Given the description of an element on the screen output the (x, y) to click on. 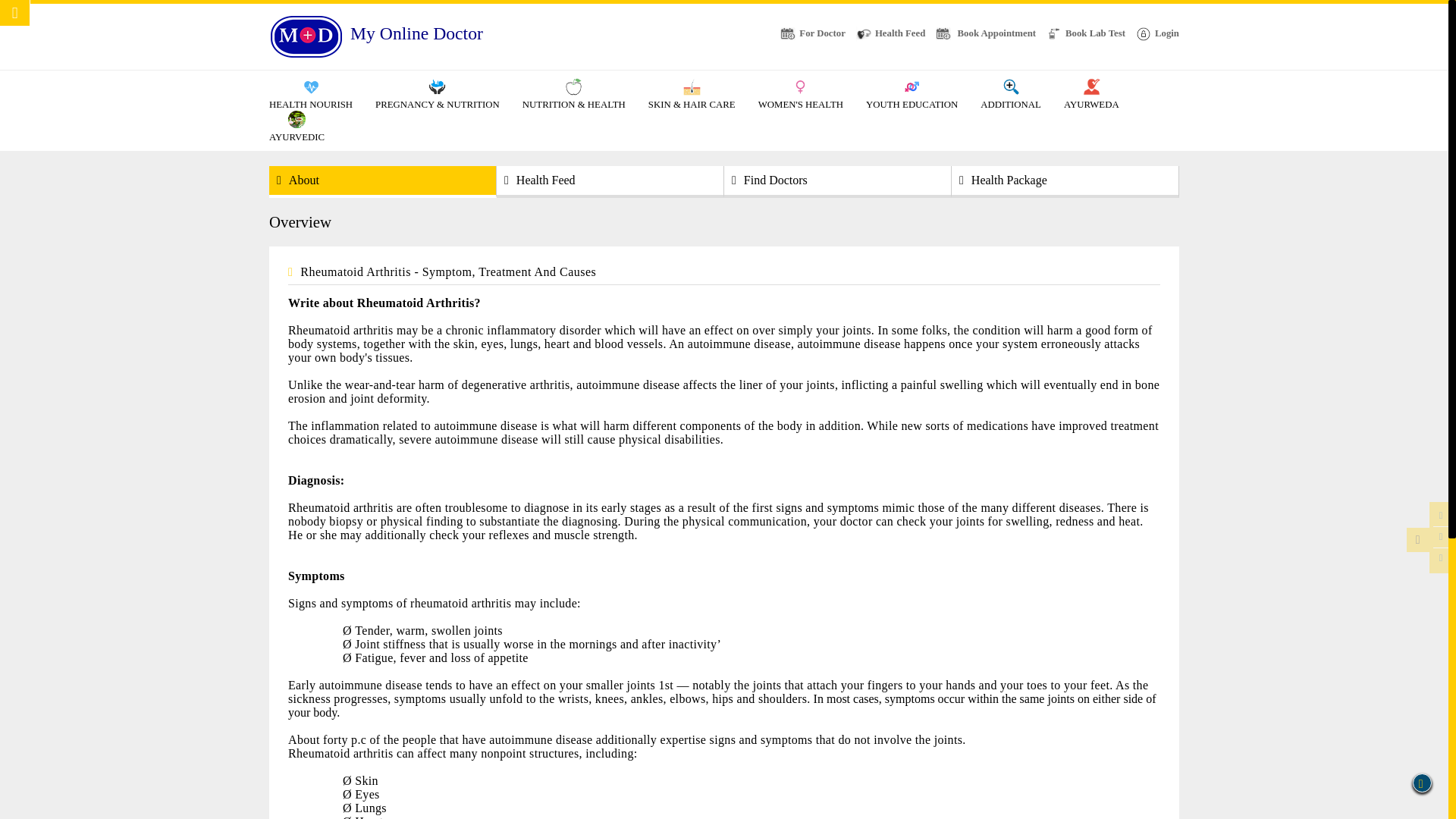
Health Feed (890, 34)
Book Appointment (985, 33)
Book Lab Test (1085, 33)
For Doctor (812, 33)
Login (1157, 34)
